Given the description of an element on the screen output the (x, y) to click on. 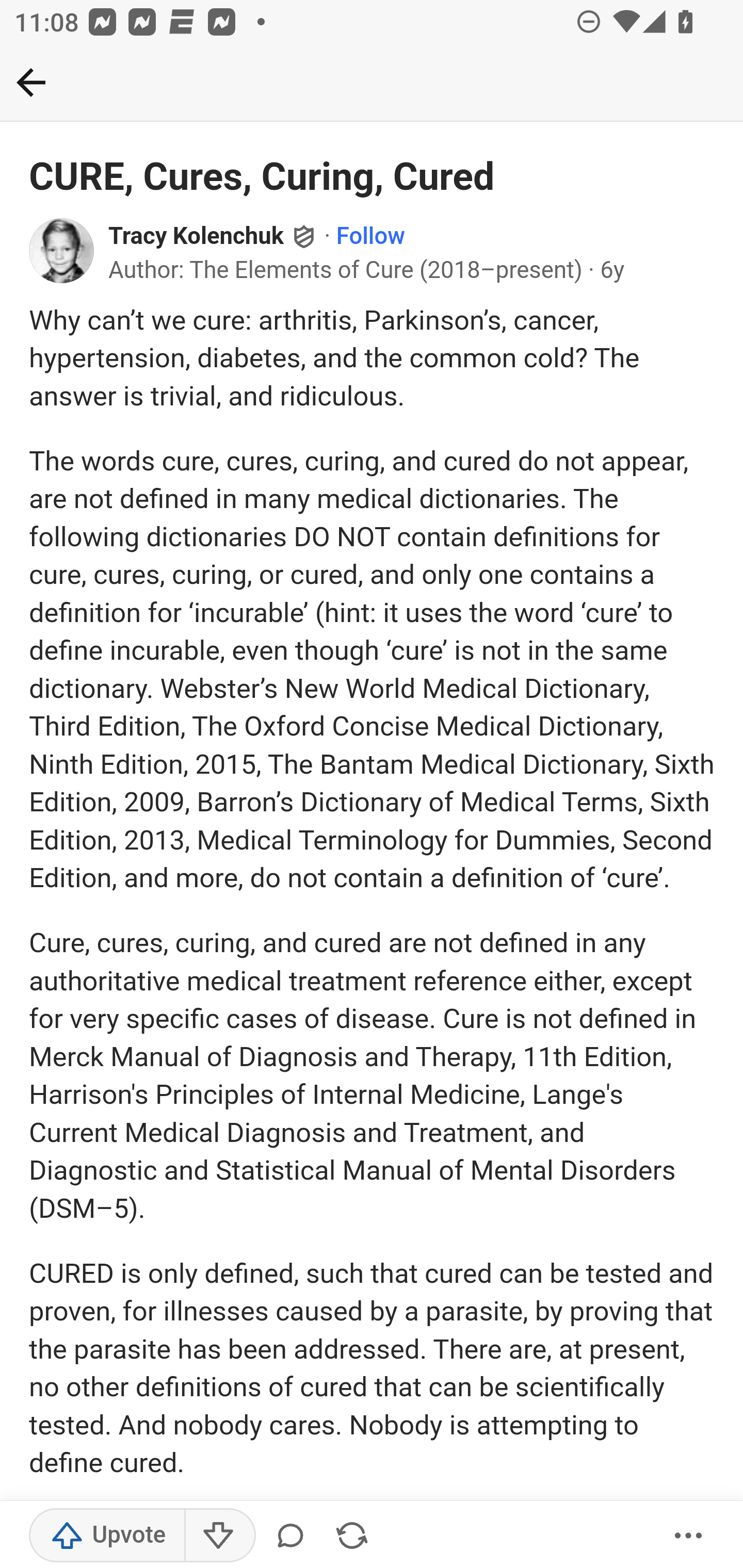
Back (30, 82)
Profile photo for Tracy Kolenchuk (61, 249)
Tracy Kolenchuk (196, 237)
Follow (370, 237)
Upvote (106, 1535)
Downvote (219, 1535)
Comment (293, 1535)
Share (351, 1535)
More (688, 1535)
